Given the description of an element on the screen output the (x, y) to click on. 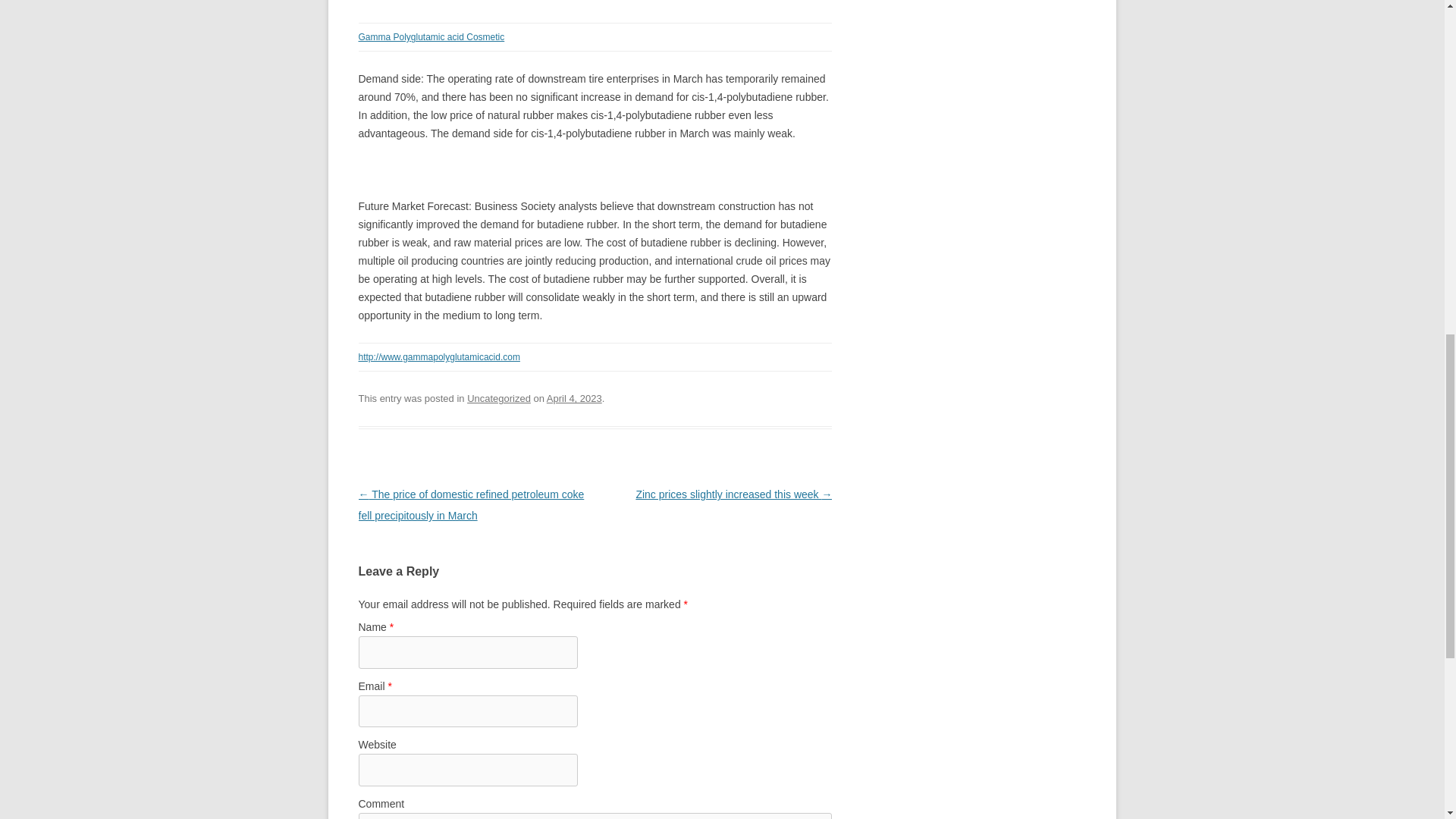
View all posts in Uncategorized (499, 398)
Uncategorized (499, 398)
1:55 am (574, 398)
April 4, 2023 (574, 398)
Gamma Polyglutamic acid Cosmetic (430, 36)
